Given the description of an element on the screen output the (x, y) to click on. 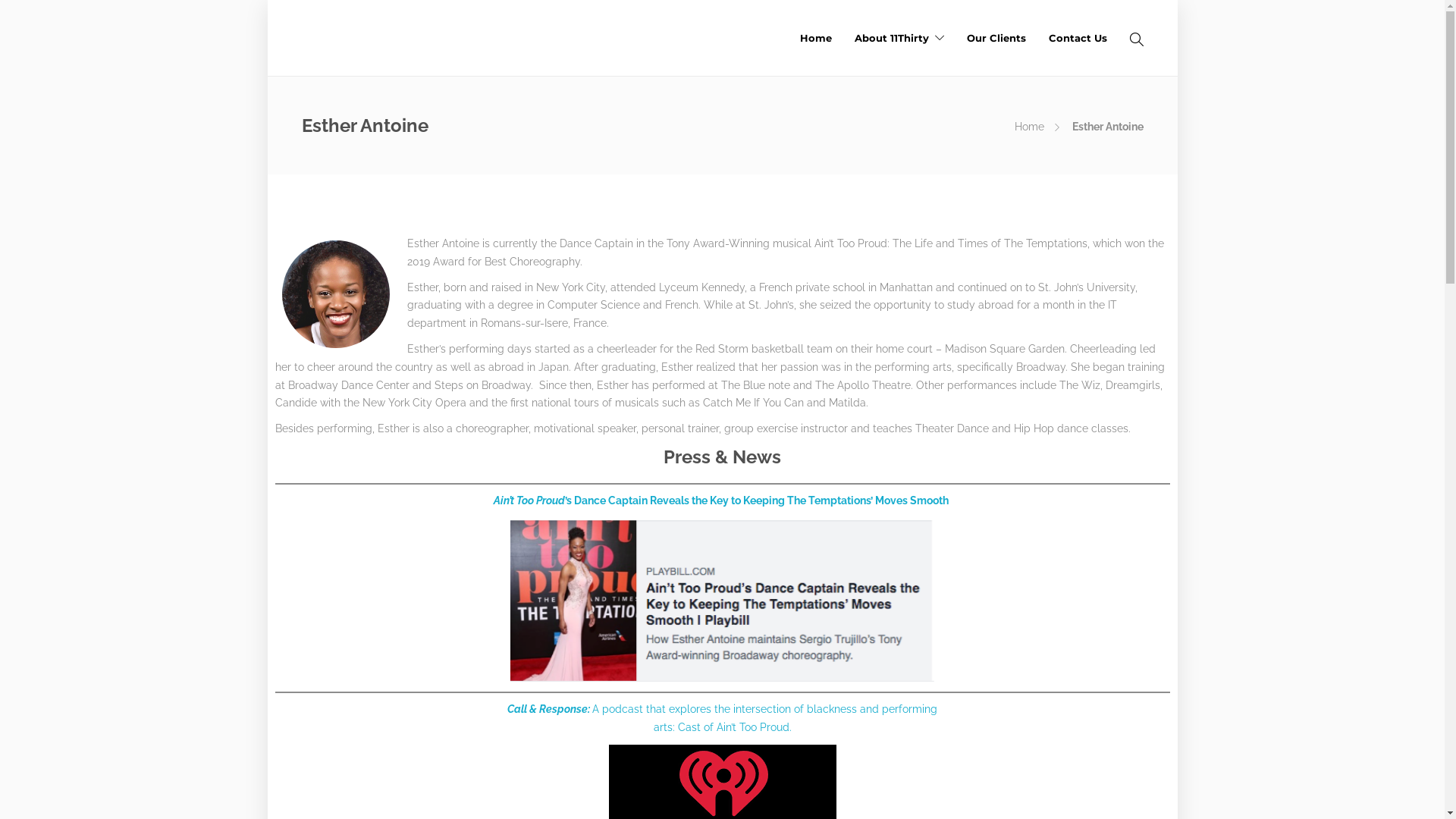
Home Element type: text (1029, 126)
Home Element type: text (815, 37)
About 11Thirty Element type: text (898, 37)
Our Clients Element type: text (995, 37)
Contact Us Element type: text (1077, 37)
